Given the description of an element on the screen output the (x, y) to click on. 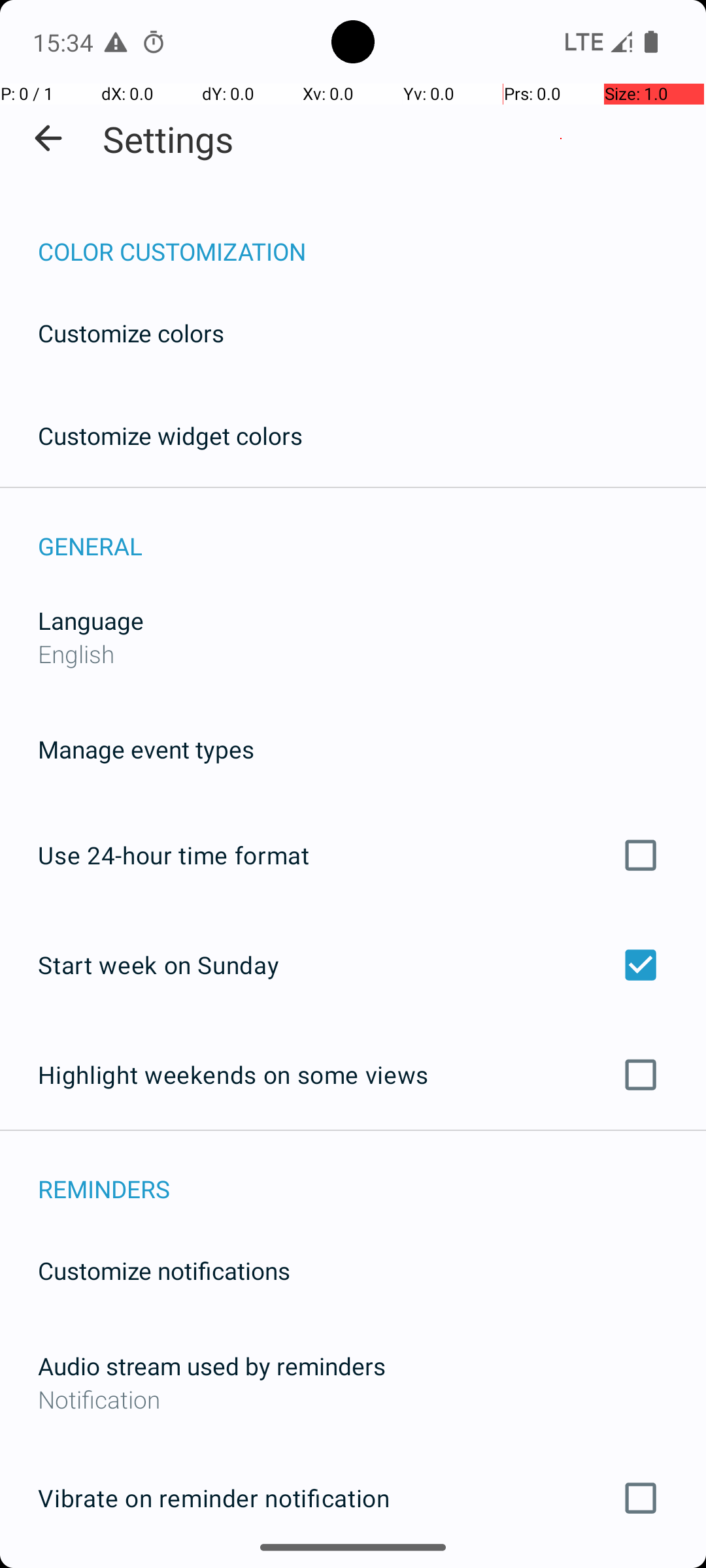
COLOR CUSTOMIZATION Element type: android.widget.TextView (371, 237)
GENERAL Element type: android.widget.TextView (371, 532)
REMINDERS Element type: android.widget.TextView (371, 1174)
Customize colors Element type: android.widget.TextView (130, 332)
Customize widget colors Element type: android.widget.TextView (170, 435)
English Element type: android.widget.TextView (75, 653)
Manage event types Element type: android.widget.TextView (145, 748)
Use 24-hour time format Element type: android.widget.CheckBox (352, 855)
Start week on Sunday Element type: android.widget.CheckBox (352, 964)
Highlight weekends on some views Element type: android.widget.CheckBox (352, 1074)
Customize notifications Element type: android.widget.TextView (163, 1270)
Audio stream used by reminders Element type: android.widget.TextView (211, 1365)
Notification Element type: android.widget.TextView (352, 1398)
Vibrate on reminder notification Element type: android.widget.CheckBox (352, 1497)
Loop reminders until dismissed Element type: android.widget.CheckBox (352, 1567)
